Given the description of an element on the screen output the (x, y) to click on. 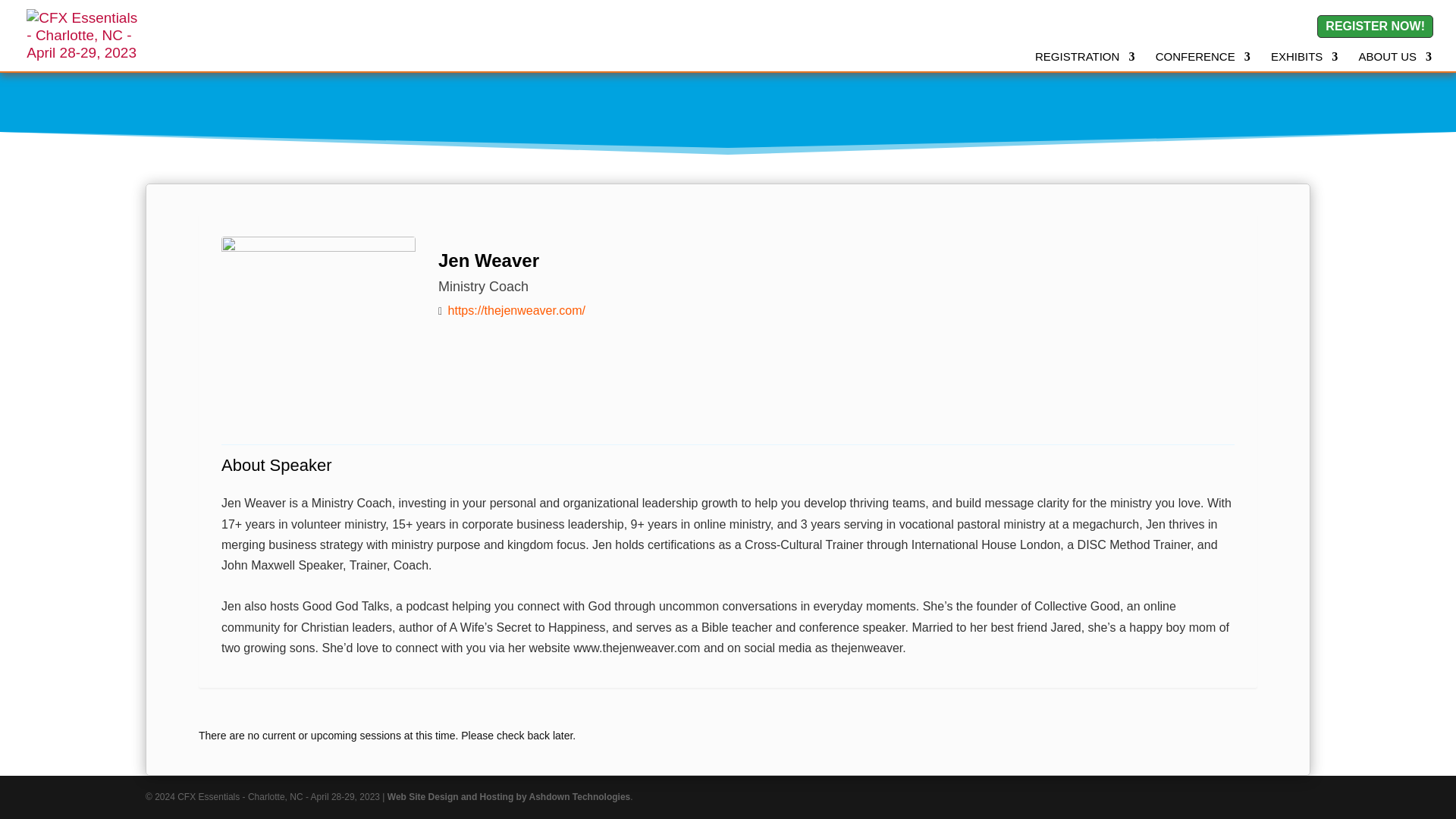
REGISTER NOW! (1374, 25)
EXHIBITS (1304, 61)
Web Site Design and Hosting by Ashdown Technologies (508, 796)
CONFERENCE (1203, 61)
Web Site Design and Hosting by Ashdown Technologies (508, 796)
REGISTRATION (1084, 61)
ABOUT US (1394, 61)
